Given the description of an element on the screen output the (x, y) to click on. 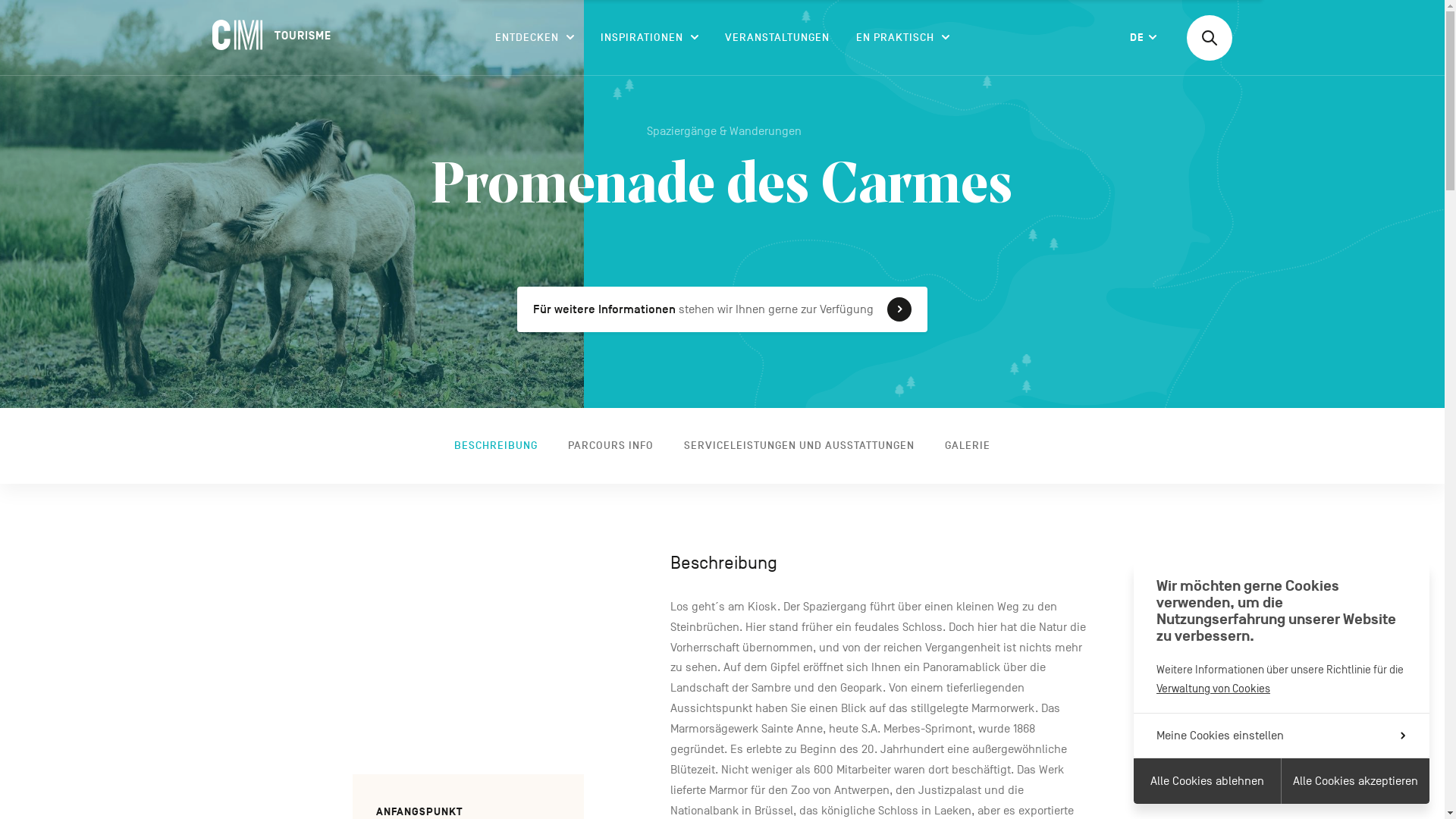
SERVICELEISTUNGEN UND AUSSTATTUNGEN Element type: text (799, 445)
ENTDECKEN Element type: text (534, 37)
BESCHREIBUNG Element type: text (495, 445)
Verwaltung von Cookies Element type: text (1213, 687)
Meine Cookies einstellen Element type: text (1281, 735)
CM Tourisme DE Element type: text (273, 34)
EN PRAKTISCH Element type: text (902, 37)
GALERIE Element type: text (967, 445)
Alle Cookies akzeptieren Element type: text (1355, 780)
PARCOURS INFO Element type: text (610, 445)
Alle Cookies ablehnen Element type: text (1207, 780)
INSPIRATIONEN Element type: text (649, 37)
VERANSTALTUNGEN Element type: text (777, 37)
